Given the description of an element on the screen output the (x, y) to click on. 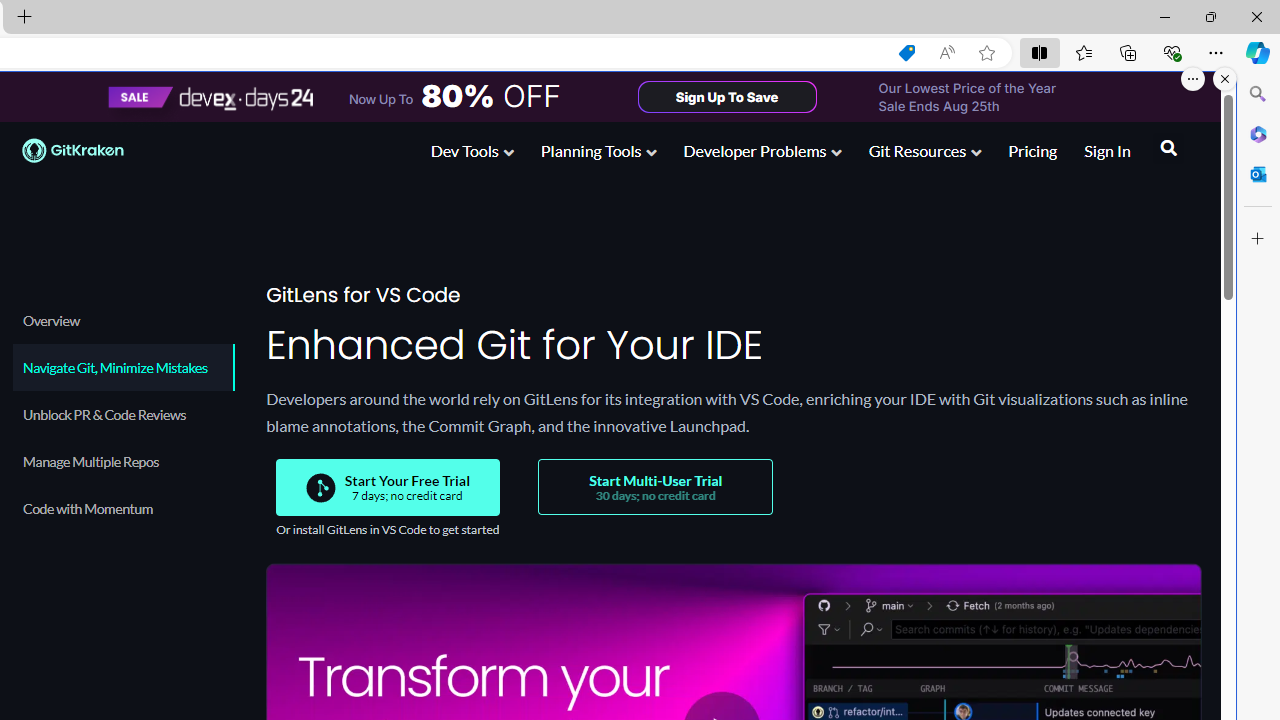
Navigate Git, Minimize Mistakes (122, 367)
Unblock PR & Code Reviews (122, 414)
Or install GitLens in VS Code to get started (388, 529)
More options. (1193, 79)
Sign Up To Save (726, 96)
